Given the description of an element on the screen output the (x, y) to click on. 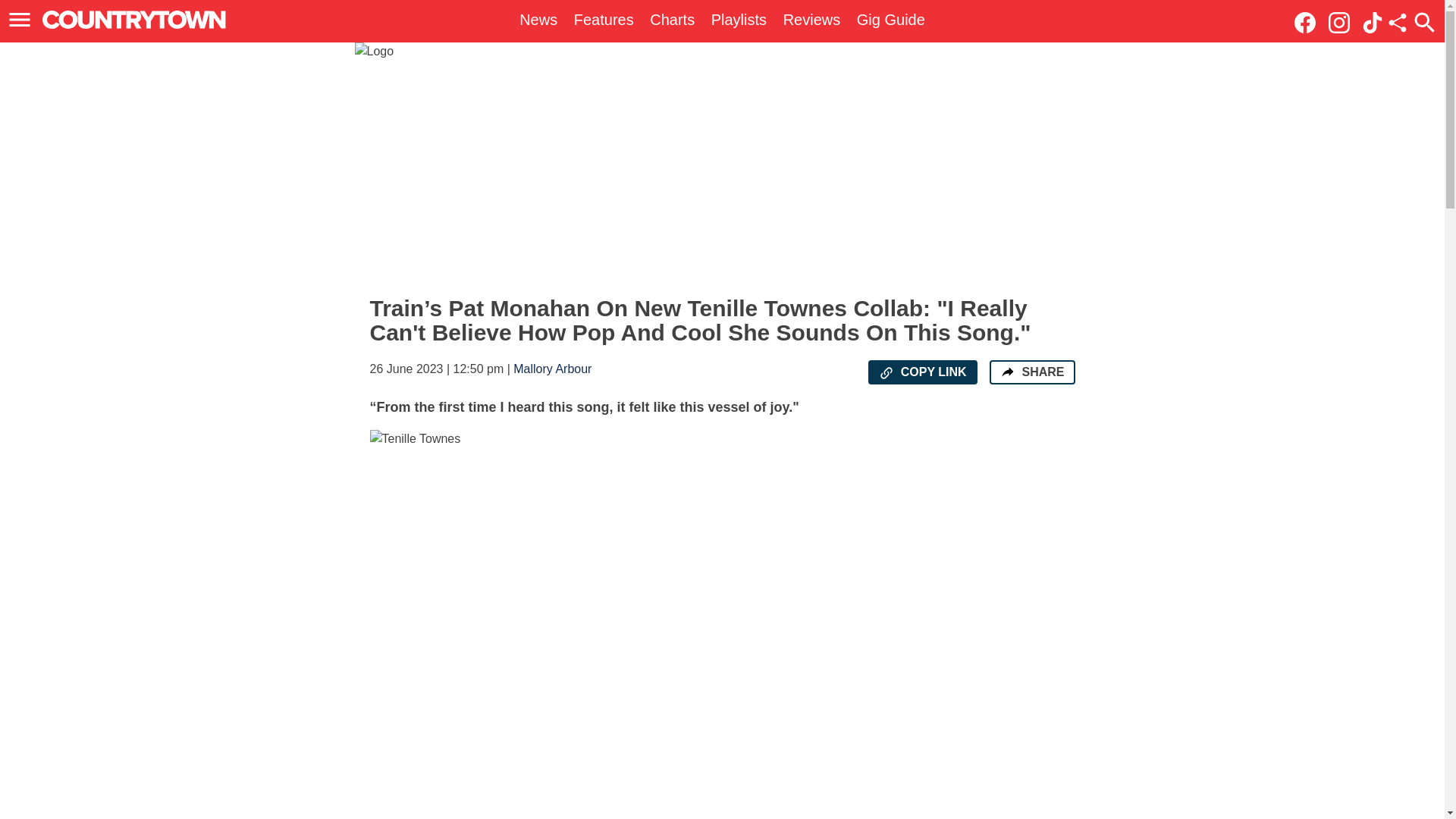
Link to our TikTok (1372, 22)
Charts (671, 19)
Open the main menu (22, 19)
Open the site search menu (1424, 22)
Link to our Facebook (1305, 22)
Share this page (1397, 22)
Share this page (1397, 22)
Gig Guide (890, 19)
Link to our Instagram (1338, 22)
Link to our Instagram (1342, 21)
Share the page (1007, 371)
Features (603, 19)
Link to our Facebook (1309, 21)
News (538, 19)
Reviews (812, 19)
